Given the description of an element on the screen output the (x, y) to click on. 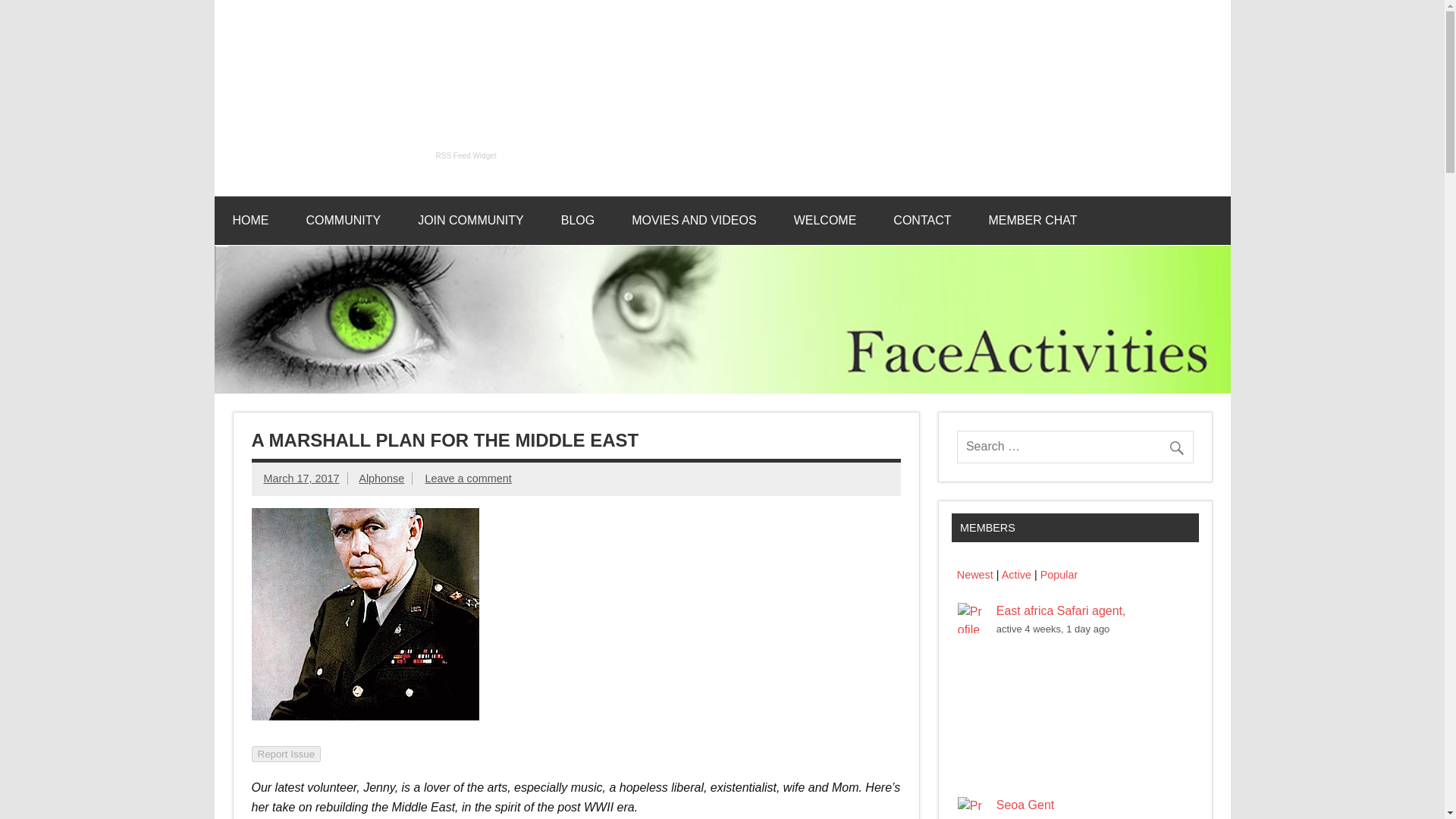
Leave a comment (468, 478)
JOIN COMMUNITY (469, 220)
RSS Feed Widget (465, 155)
MEMBER CHAT (1031, 220)
CONTACT (922, 220)
10:00 pm (301, 478)
MOVIES AND VIDEOS (693, 220)
Alphonse (381, 478)
BLOG (577, 220)
Report Issue (286, 754)
MEMBERS (986, 527)
COMMUNITY (343, 220)
WELCOME (825, 220)
HOME (250, 220)
March 17, 2017 (301, 478)
